Given the description of an element on the screen output the (x, y) to click on. 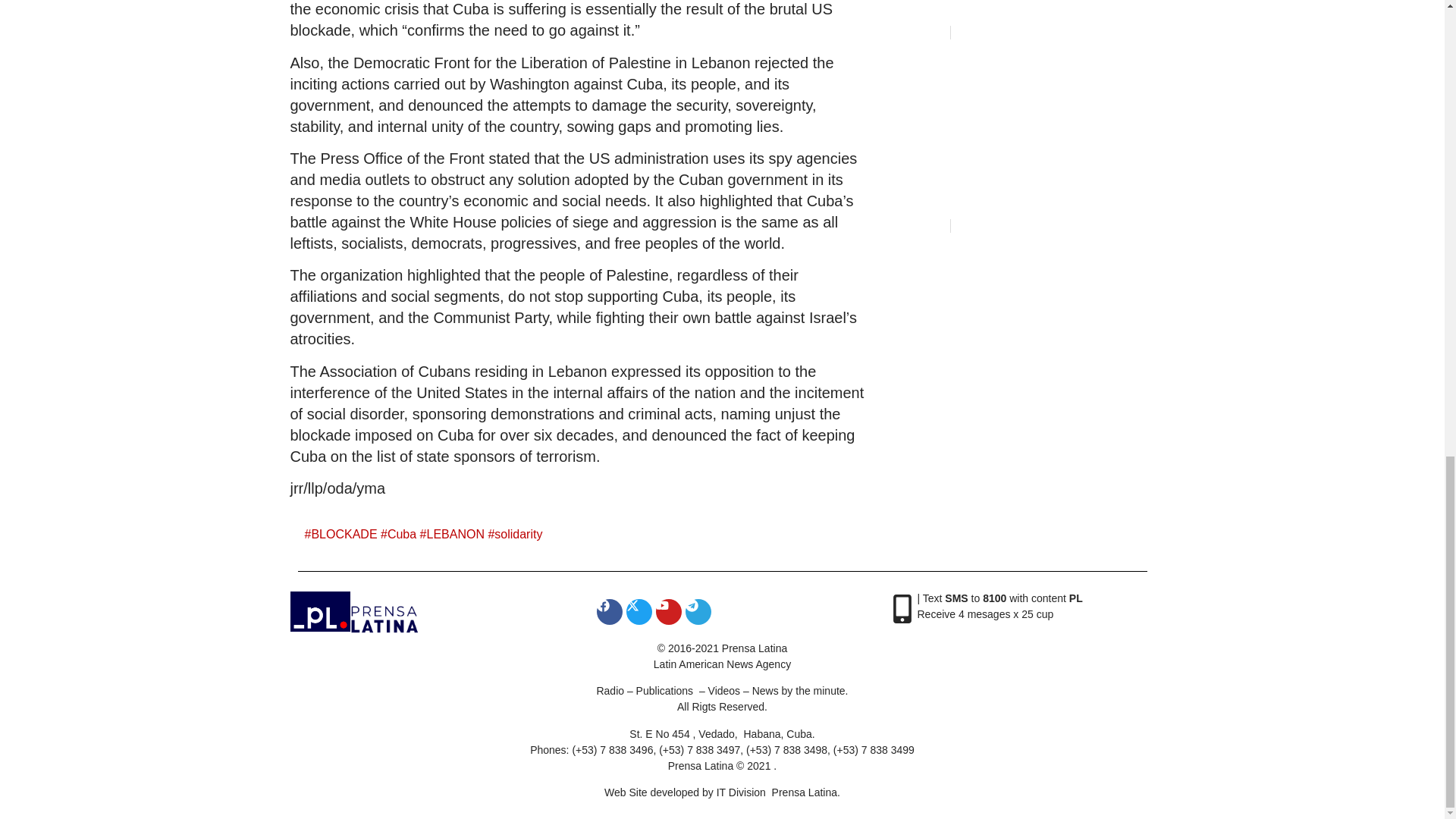
LEBANON (454, 533)
Cuba (401, 533)
UN condemns Israeli attack on school in Gaza (999, 16)
August 11, 2024 (913, 225)
August 11, 2024 (913, 32)
solidarity (518, 533)
BLOCKADE (344, 533)
